Given the description of an element on the screen output the (x, y) to click on. 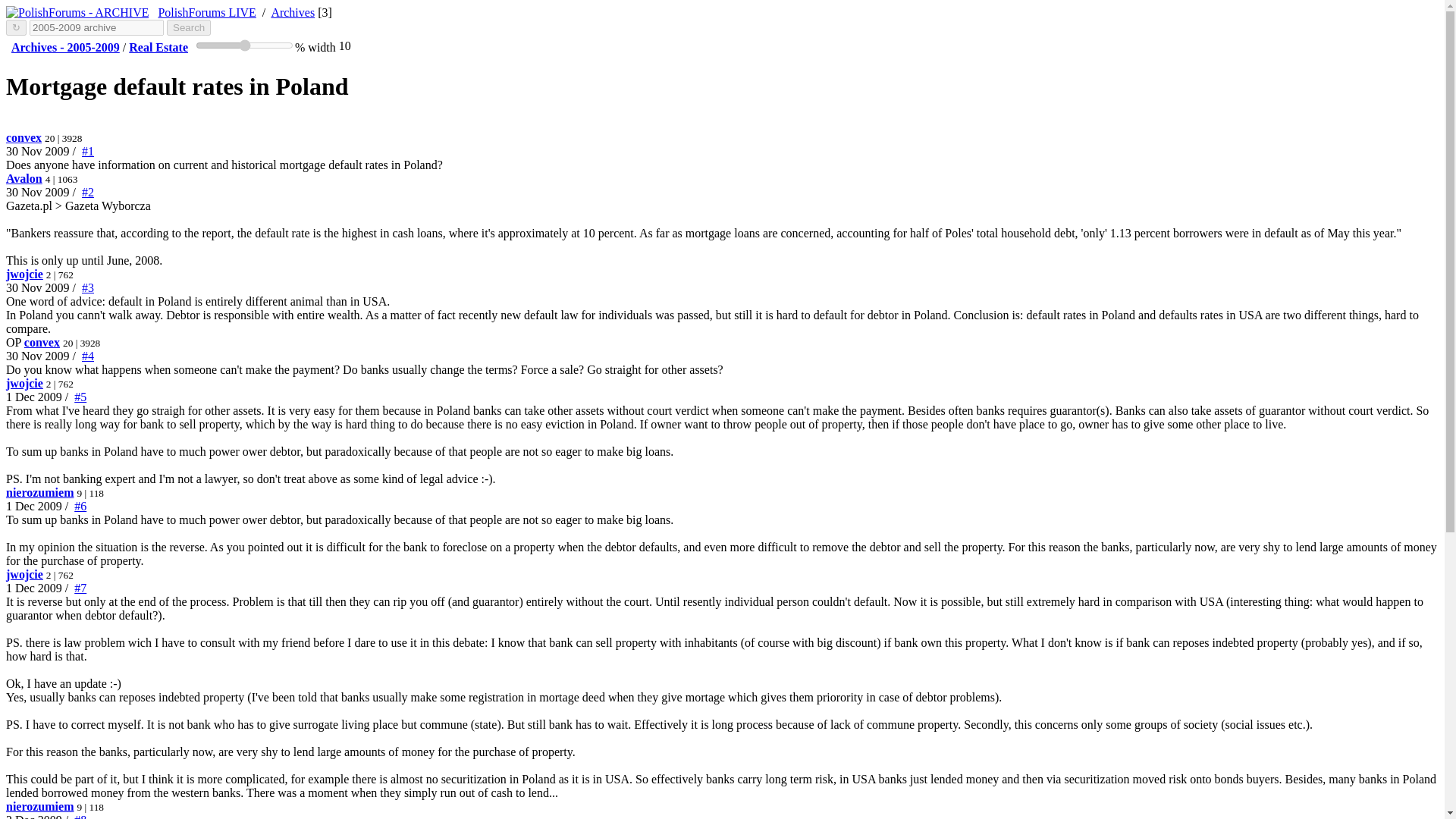
Find on page (15, 27)
PolishForums LIVE (24, 574)
Archives - 2005-2009 (23, 178)
jwojcie (206, 11)
convex (76, 12)
Search (39, 492)
convex (24, 574)
